Given the description of an element on the screen output the (x, y) to click on. 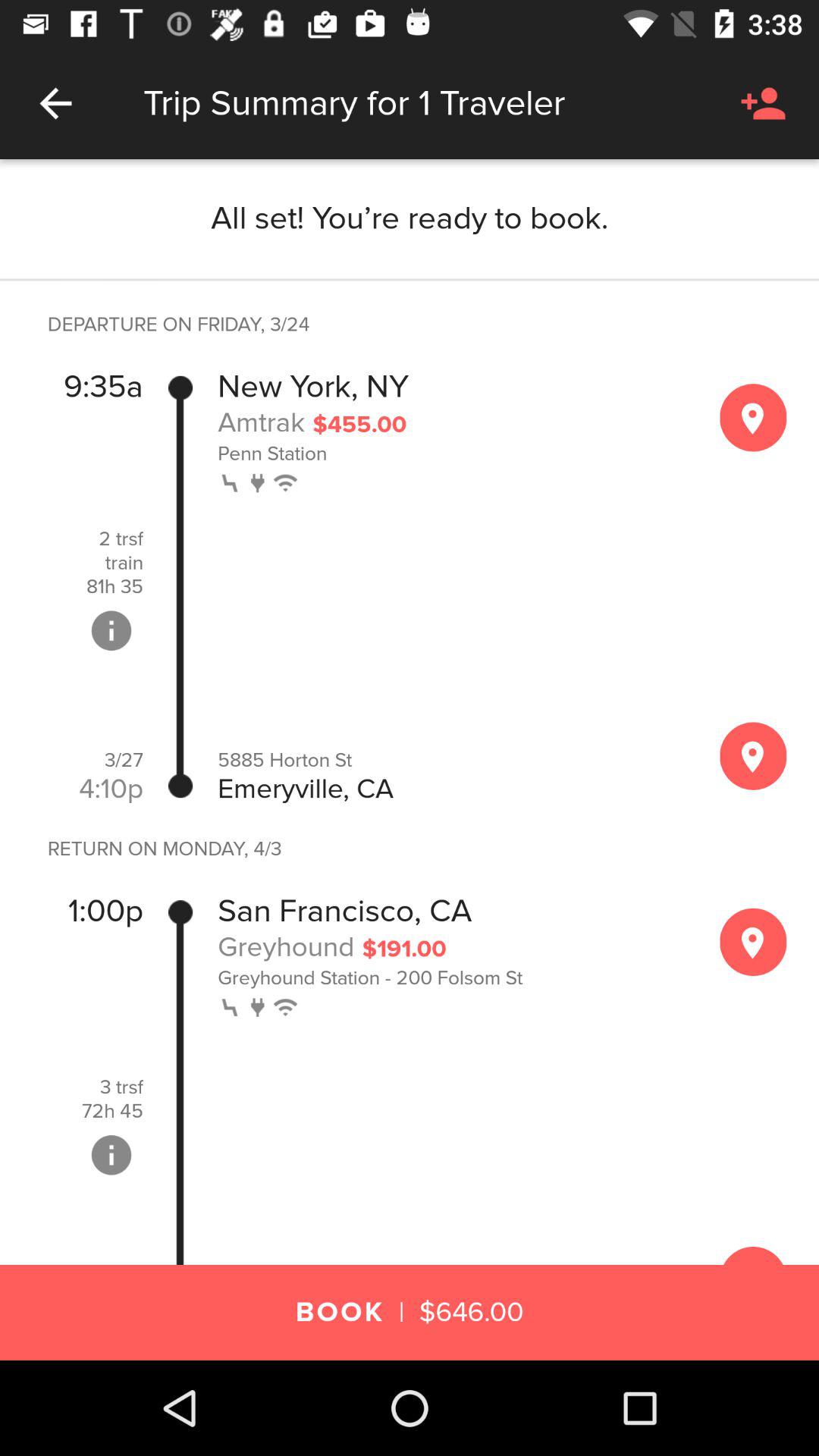
go back (55, 103)
